Given the description of an element on the screen output the (x, y) to click on. 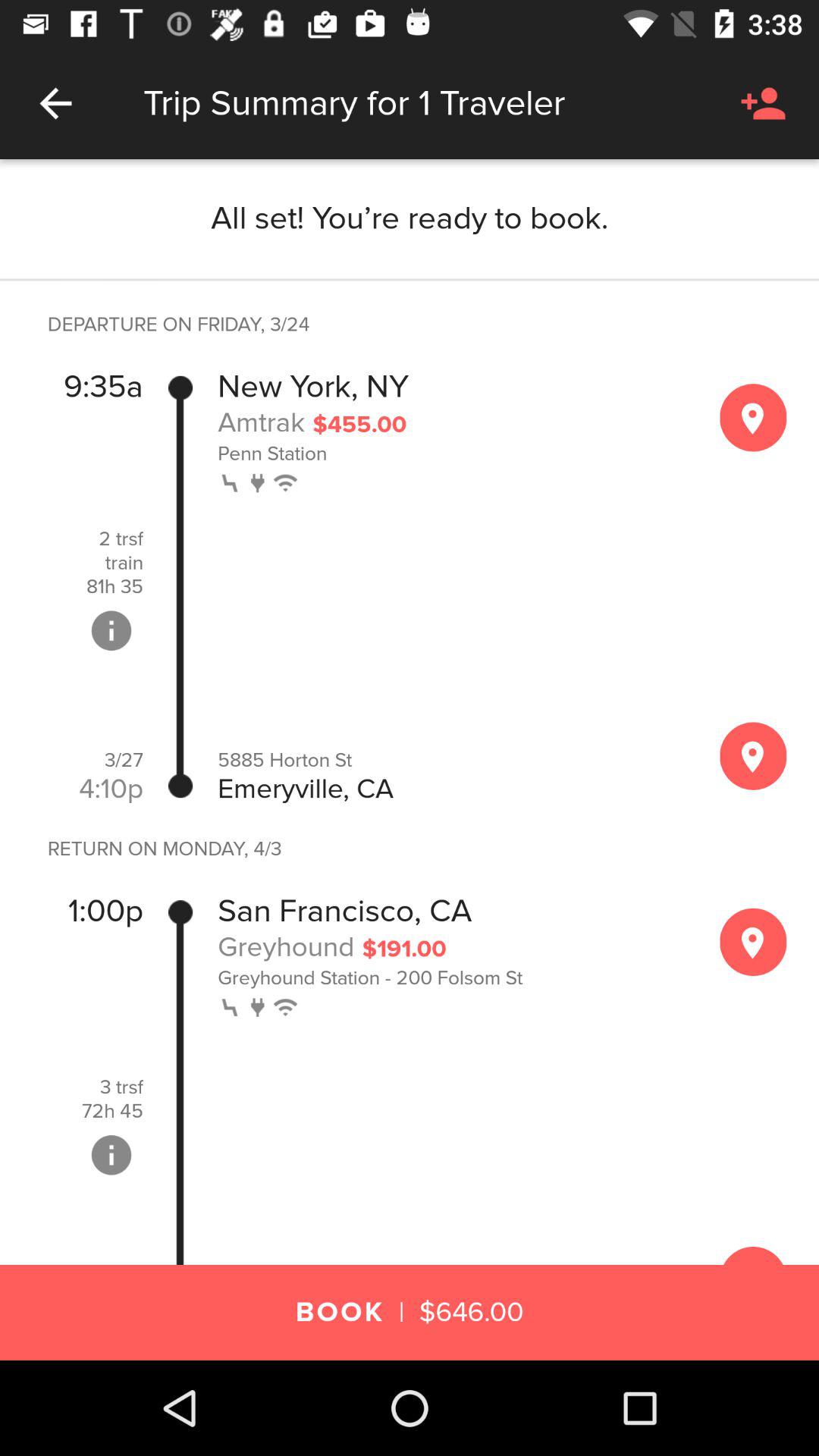
go back (55, 103)
